Given the description of an element on the screen output the (x, y) to click on. 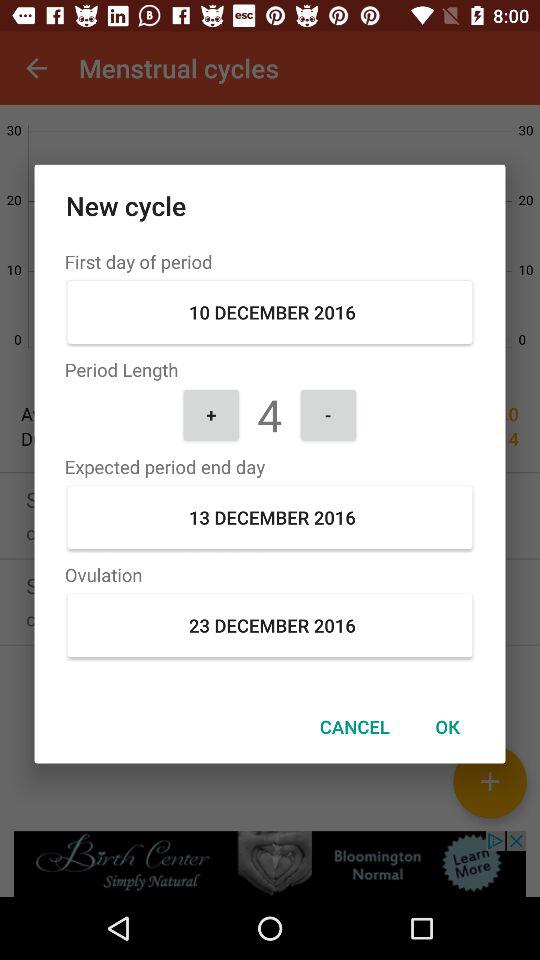
select the cancel item (354, 726)
